Given the description of an element on the screen output the (x, y) to click on. 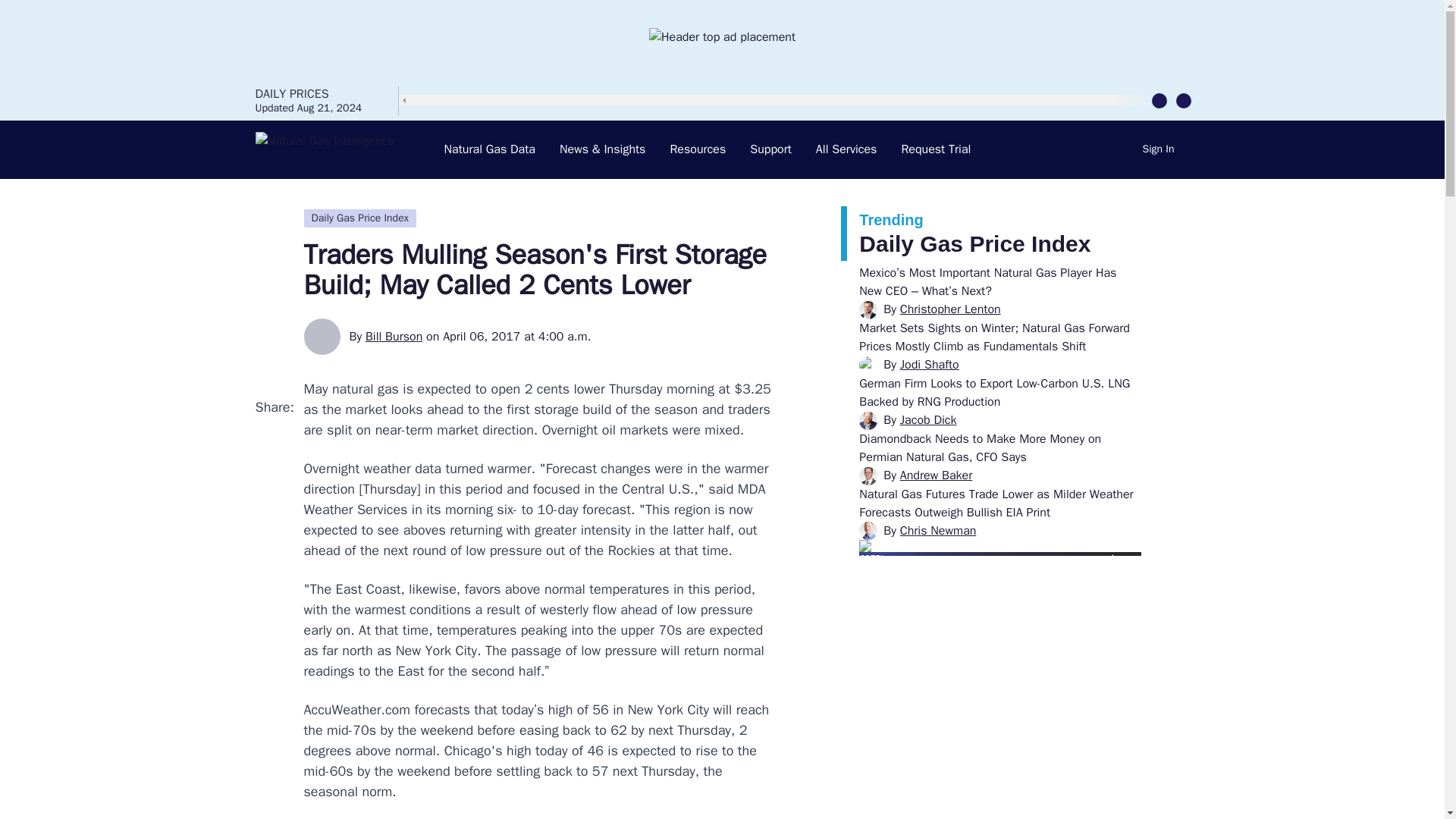
Natural Gas Data (489, 149)
Scroll Left (1158, 99)
Scroll Right (1182, 99)
